Given the description of an element on the screen output the (x, y) to click on. 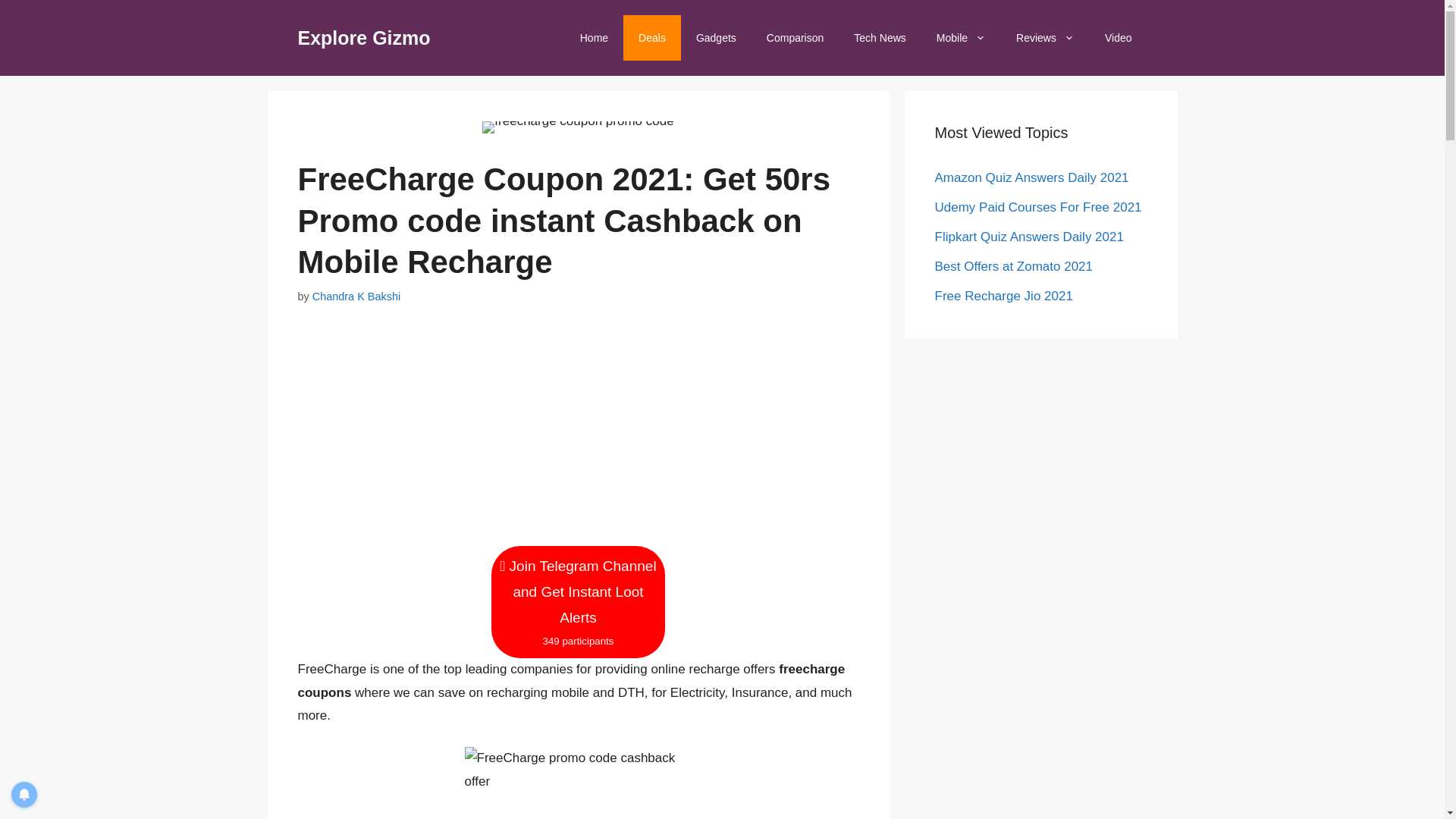
Video (1118, 37)
Deals (652, 37)
Gadgets (716, 37)
Tech News (879, 37)
Mobile (961, 37)
Chandra K Bakshi (356, 296)
Comparison (794, 37)
Advertisement (578, 437)
Explore Gizmo (363, 37)
Reviews (1045, 37)
Udemy Paid Courses For Free 2021 (1037, 206)
Amazon Quiz Answers Daily 2021 (1031, 177)
Home (593, 37)
